Given the description of an element on the screen output the (x, y) to click on. 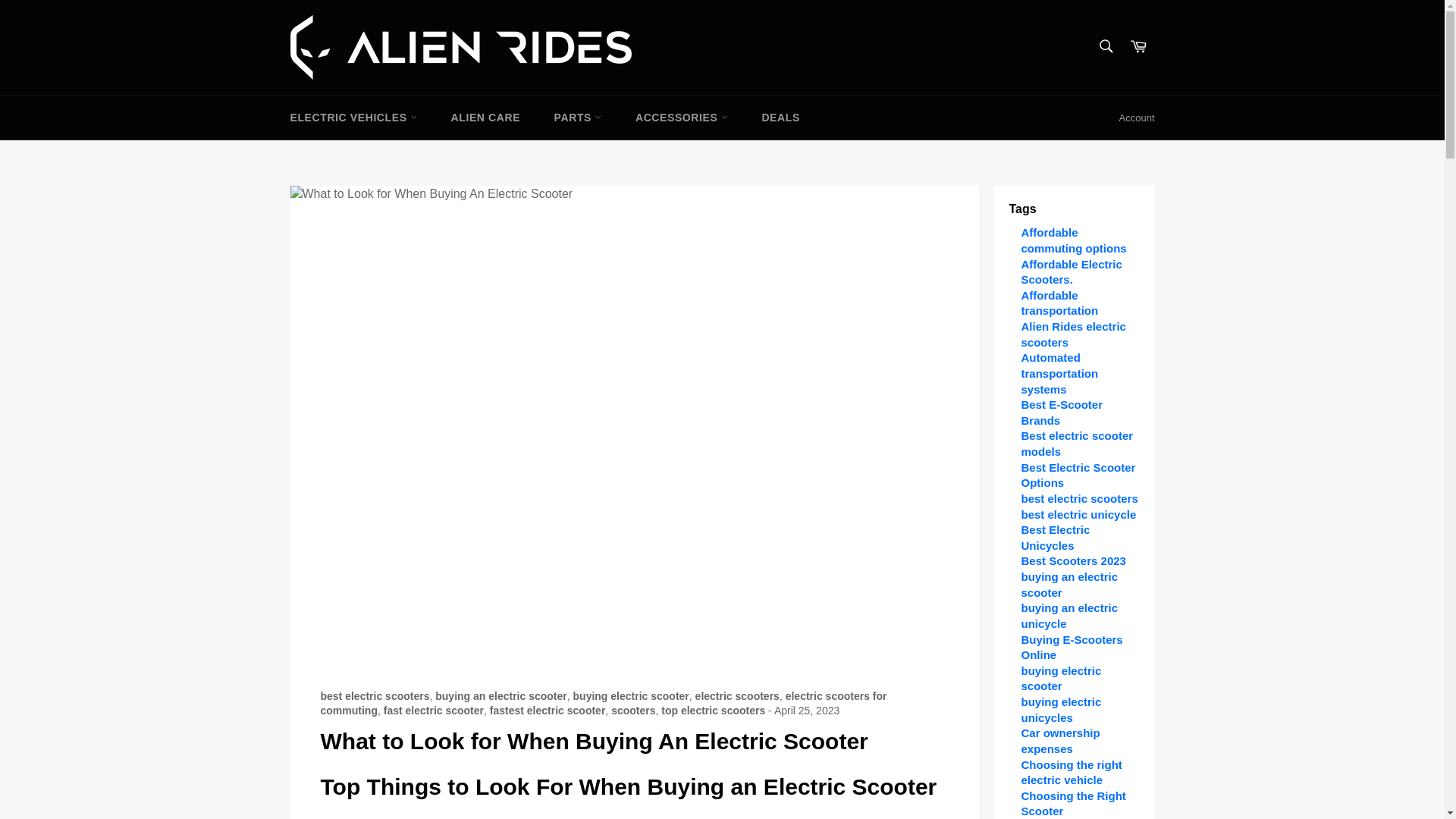
Show articles tagged buying electric scooter (1060, 678)
Show articles tagged buying an electric scooter (1069, 584)
Show articles tagged Buying E-Scooters Online (1071, 646)
Show articles tagged Best Electric Scooter Options (1077, 475)
Show articles tagged Best electric scooter models (1076, 443)
Show articles tagged Best Scooters 2023 (1072, 560)
Show articles tagged Alien Rides electric scooters (1072, 334)
Show articles tagged Best Electric Unicycles (1054, 537)
Show articles tagged Affordable transportation (1058, 303)
Show articles tagged Affordable commuting options (1072, 240)
